Given the description of an element on the screen output the (x, y) to click on. 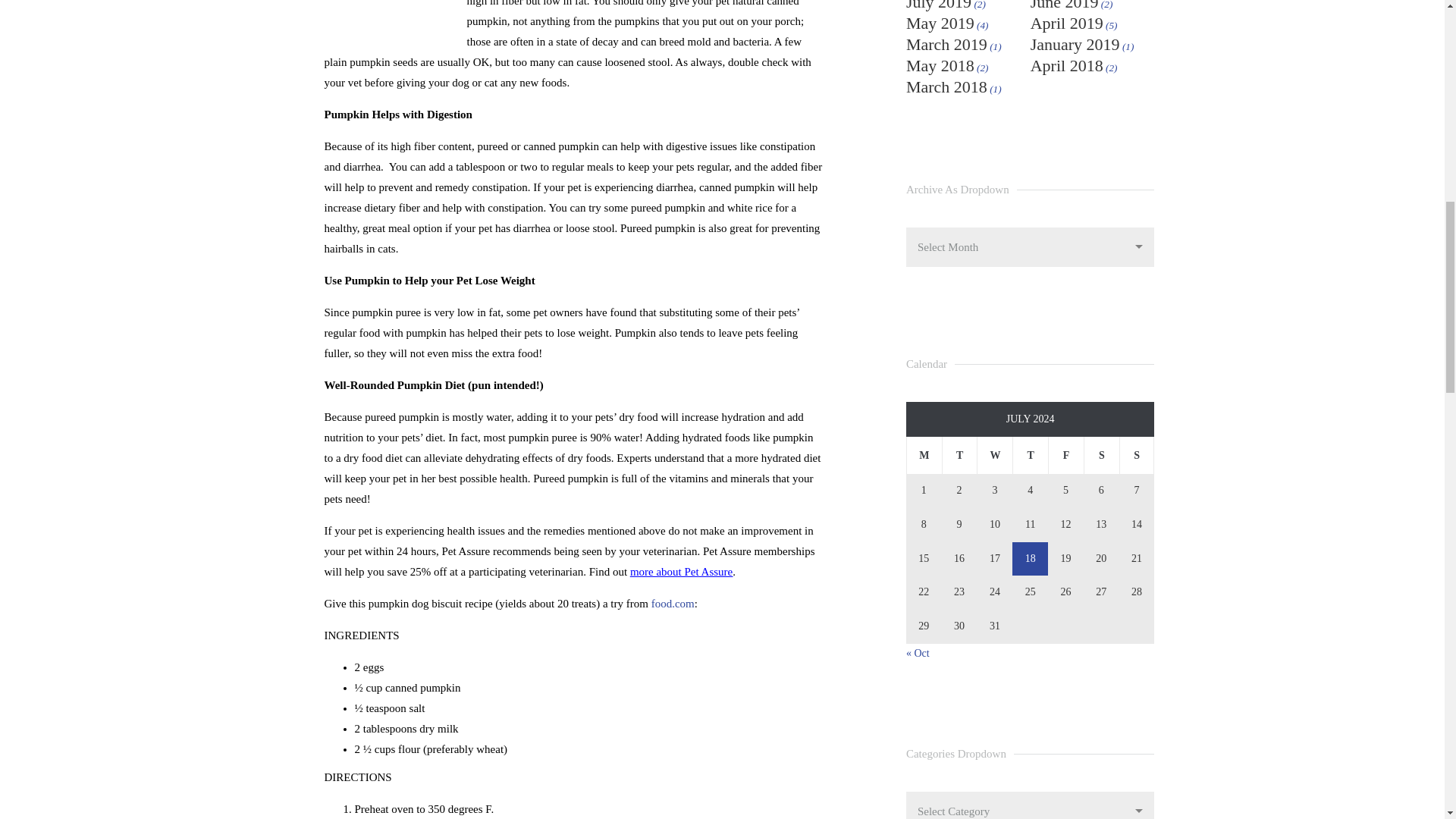
more about Pet Assure (681, 571)
Wednesday (993, 455)
Saturday (1101, 455)
Monday (923, 455)
Thursday (1029, 455)
Tuesday (959, 455)
Sunday (1136, 455)
food.com (672, 603)
Friday (1065, 455)
